Given the description of an element on the screen output the (x, y) to click on. 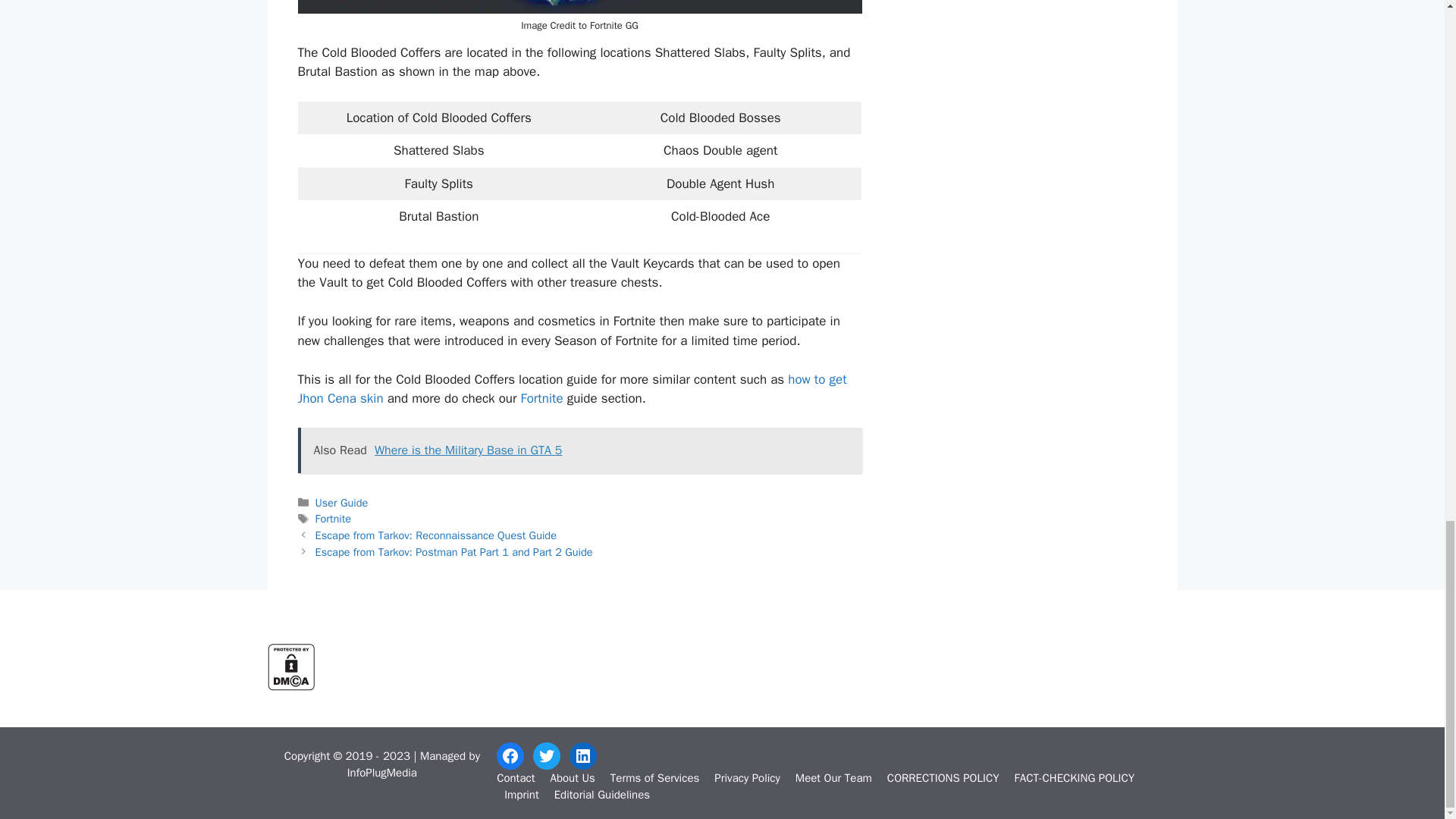
how to get Jhon Cena skin (571, 389)
Escape from Tarkov: Postman Pat Part 1 and Part 2 Guide (453, 551)
Meet Our Team (833, 777)
DMCA.com Protection Status (290, 686)
Terms of Services (654, 777)
Twitter (546, 755)
Escape from Tarkov: Reconnaissance Quest Guide (435, 535)
How To Get Cold Blooded Coffers in Fortnite (579, 6)
FACT-CHECKING POLICY (1074, 777)
CORRECTIONS POLICY (942, 777)
